Given the description of an element on the screen output the (x, y) to click on. 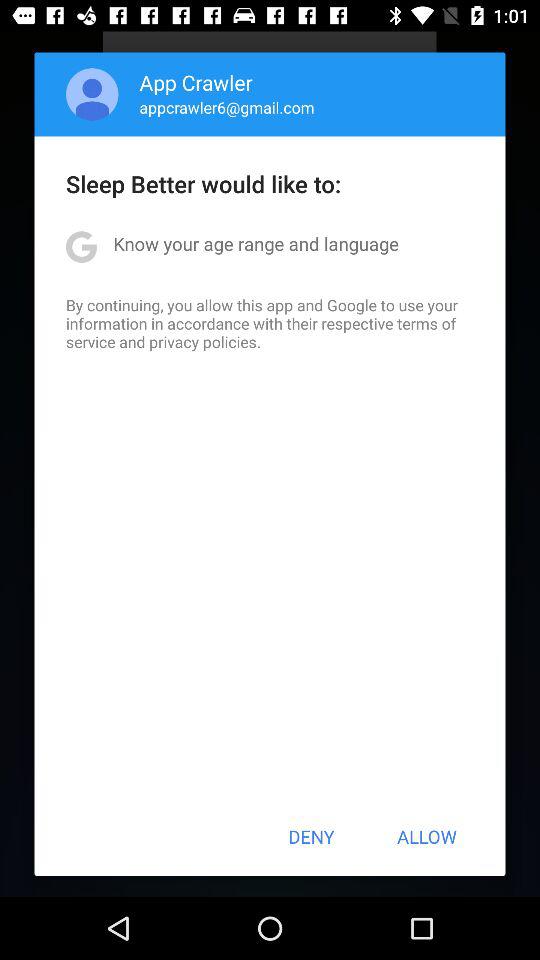
choose button next to the allow (311, 836)
